Given the description of an element on the screen output the (x, y) to click on. 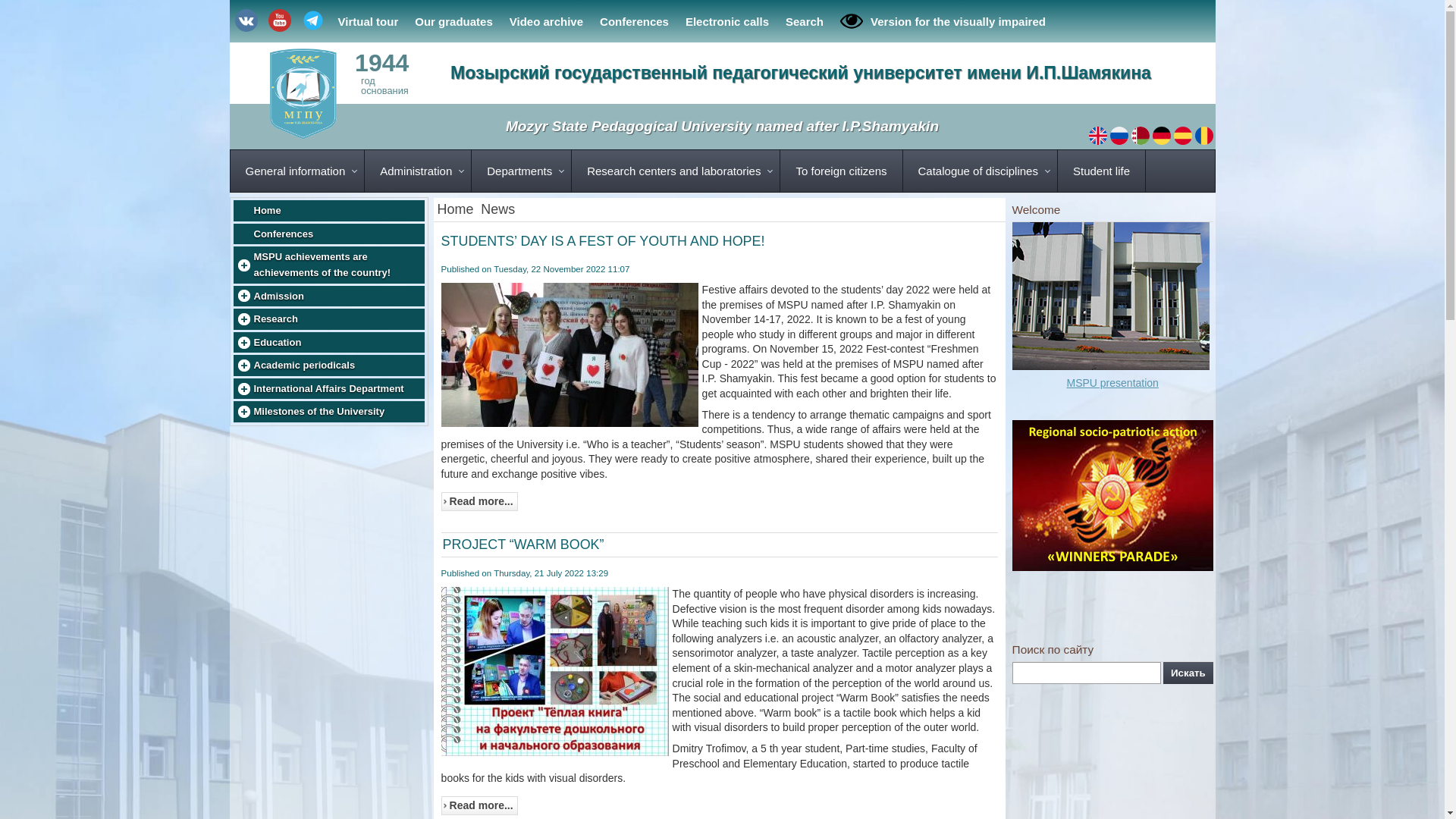
Our graduates (453, 20)
Departments (521, 170)
Conferences (634, 20)
Virtual tour (367, 20)
Video archive (545, 20)
Electronic calls (727, 20)
General information (297, 170)
Version for the visually impaired (942, 20)
photo (554, 673)
Search (804, 20)
Administration (418, 170)
